Given the description of an element on the screen output the (x, y) to click on. 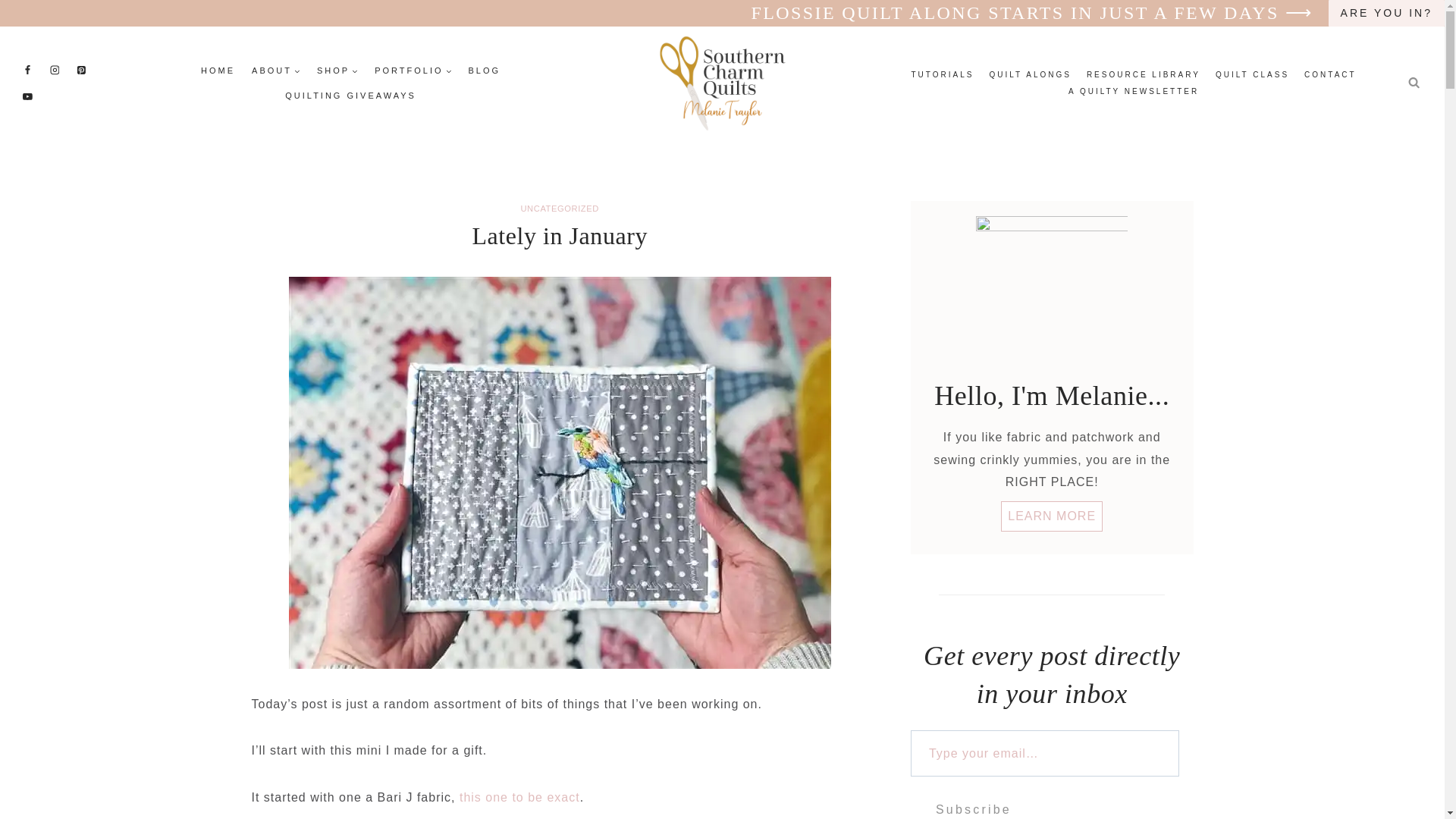
BLOG (484, 70)
TUTORIALS (942, 74)
QUILT ALONGS (1029, 74)
RESOURCE LIBRARY (1143, 74)
A QUILTY NEWSLETTER (1134, 91)
HOME (217, 70)
PORTFOLIO (413, 70)
QUILT CLASS (1252, 74)
CONTACT (1330, 74)
ABOUT (275, 70)
